Given the description of an element on the screen output the (x, y) to click on. 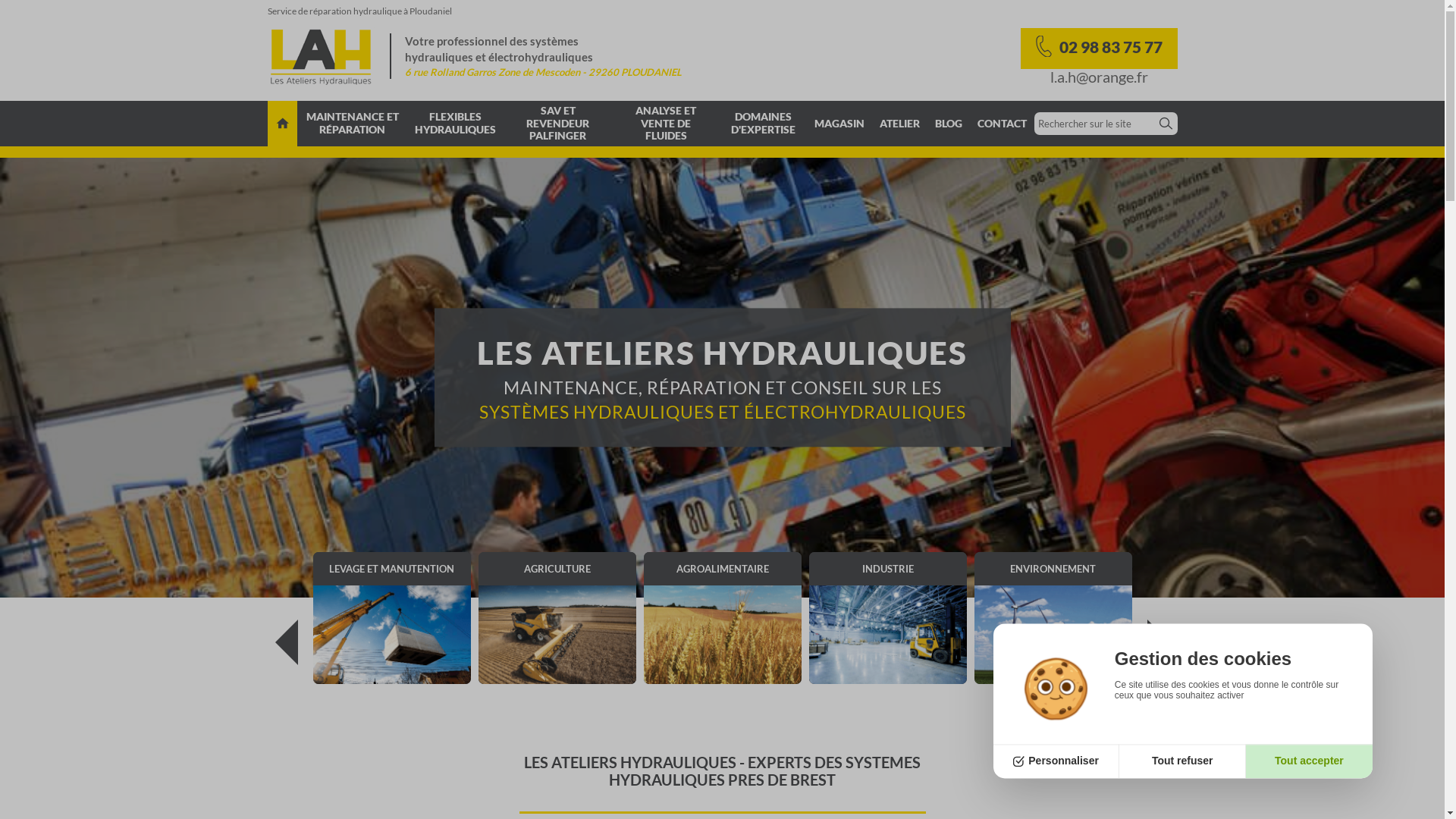
LEVAGE ET MANUTENTION Element type: text (391, 618)
Tout accepter Element type: text (1308, 760)
Personnaliser Element type: text (1056, 760)
ANALYSE ET VENTE DE FLUIDES Element type: text (666, 123)
INDUSTRIE Element type: text (887, 618)
Tout refuser Element type: text (1182, 760)
AGRICULTURE Element type: text (556, 618)
CONTACT Element type: text (1001, 123)
ATELIER Element type: text (899, 123)
FLEXIBLES HYDRAULIQUES Element type: text (455, 123)
MAGASIN Element type: text (839, 123)
SAV ET REVENDEUR PALFINGER Element type: text (557, 123)
DOMAINES D'EXPERTISE Element type: text (762, 123)
Rechercher Element type: text (1165, 123)
BLOG Element type: text (947, 123)
ENVIRONNEMENT Element type: text (1052, 618)
AGROALIMENTAIRE Element type: text (721, 618)
